Given the description of an element on the screen output the (x, y) to click on. 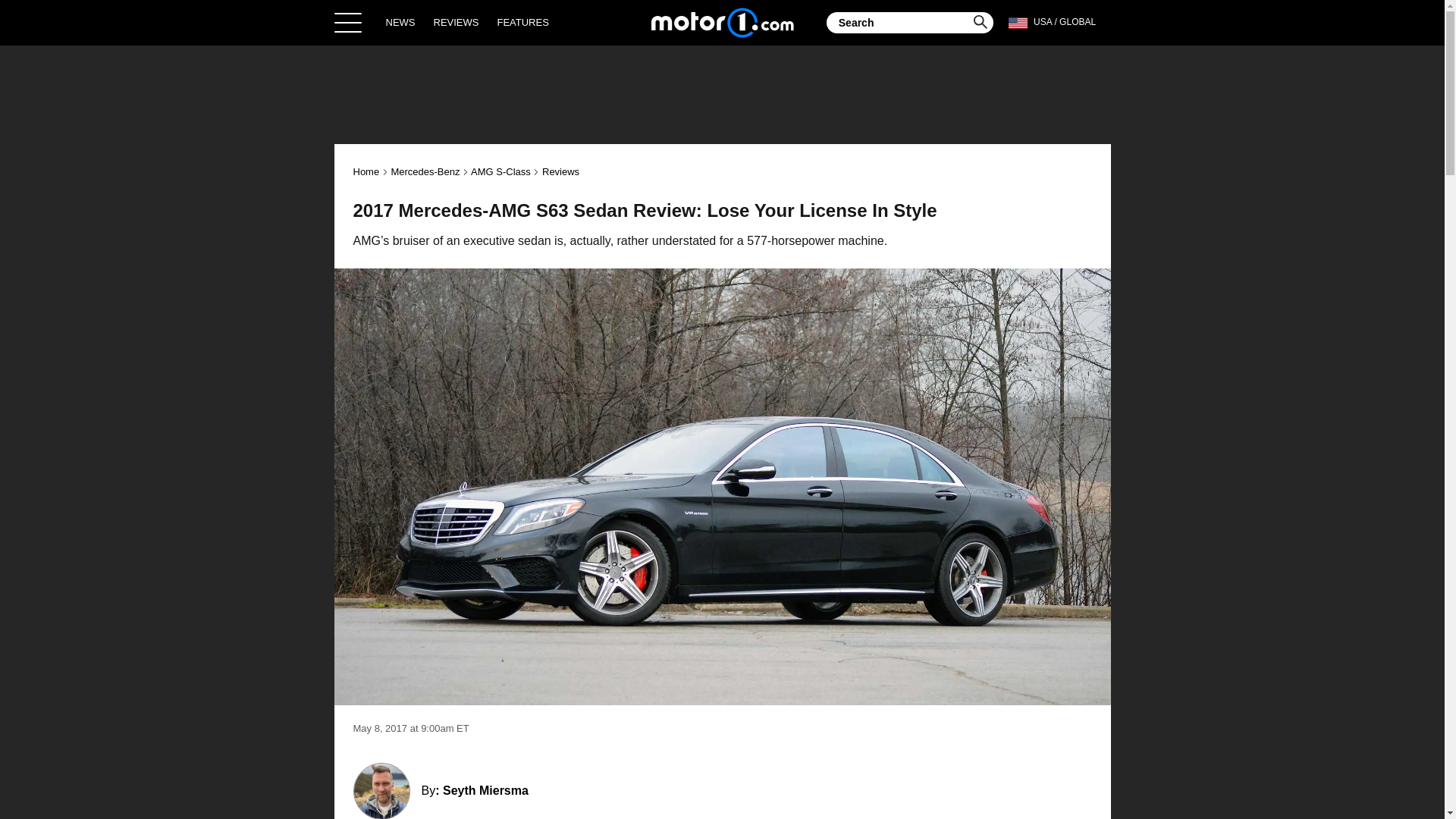
Home (721, 22)
Mercedes-Benz (425, 171)
Home (366, 171)
FEATURES (522, 22)
REVIEWS (456, 22)
AMG S-Class (500, 171)
NEWS (399, 22)
Reviews (560, 171)
Seyth Miersma (485, 789)
